Given the description of an element on the screen output the (x, y) to click on. 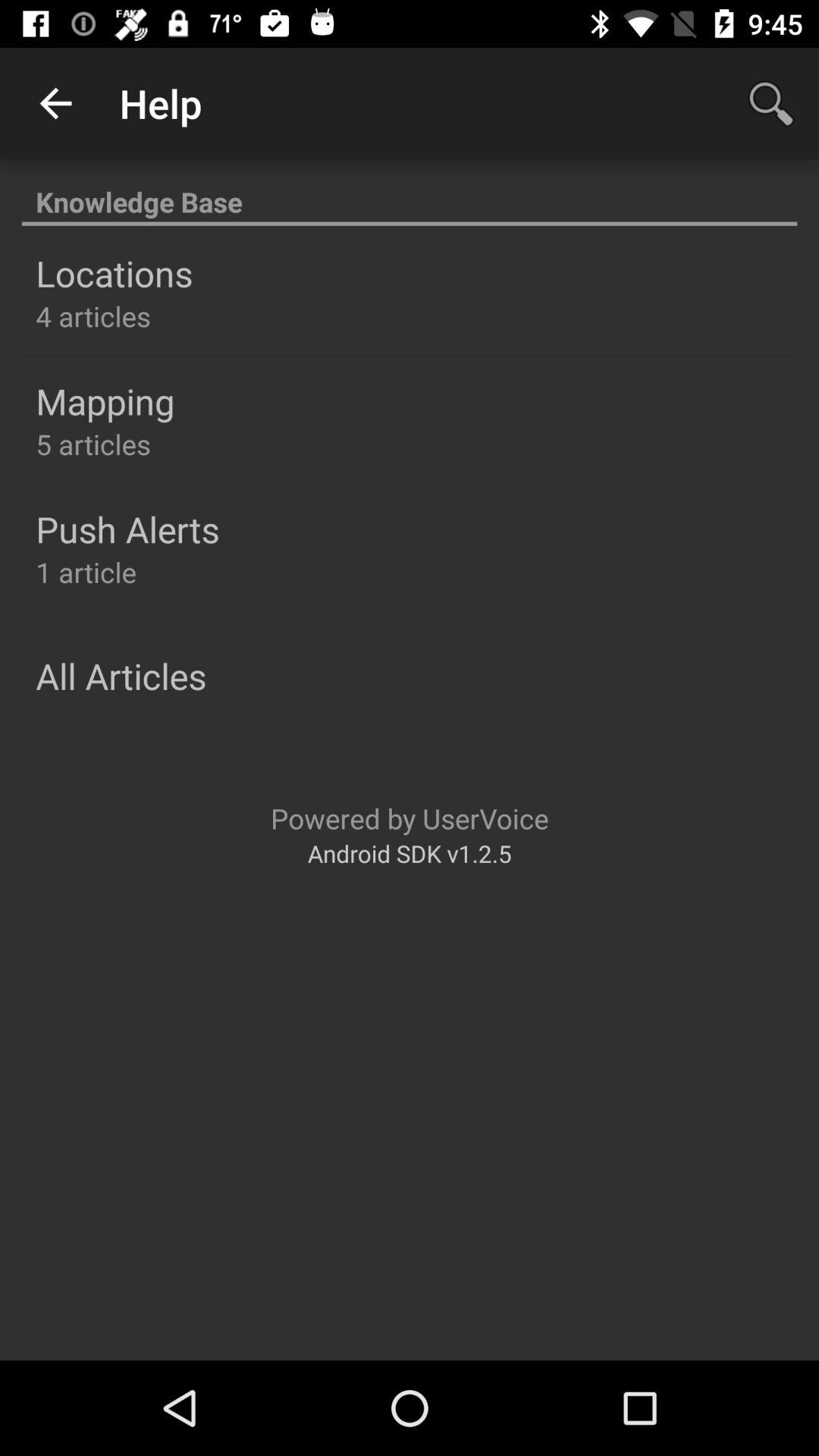
tap the icon next to help (55, 103)
